Given the description of an element on the screen output the (x, y) to click on. 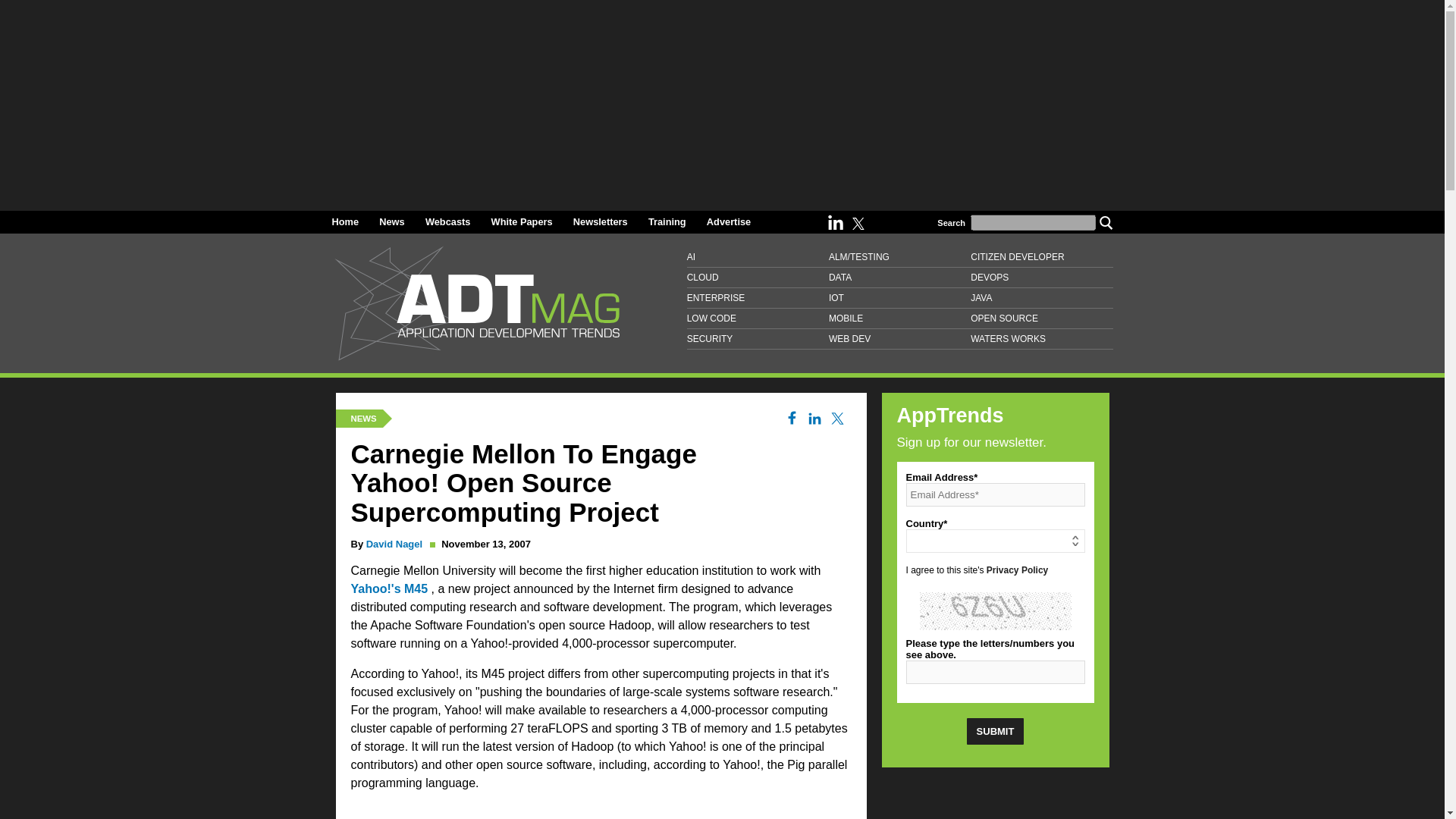
Home (345, 221)
3rd party ad content (600, 811)
OPEN SOURCE (1041, 318)
Submit (995, 731)
Training (666, 221)
CLOUD (757, 277)
3rd party ad content (994, 800)
DATA (899, 277)
WEB DEV (899, 339)
